Given the description of an element on the screen output the (x, y) to click on. 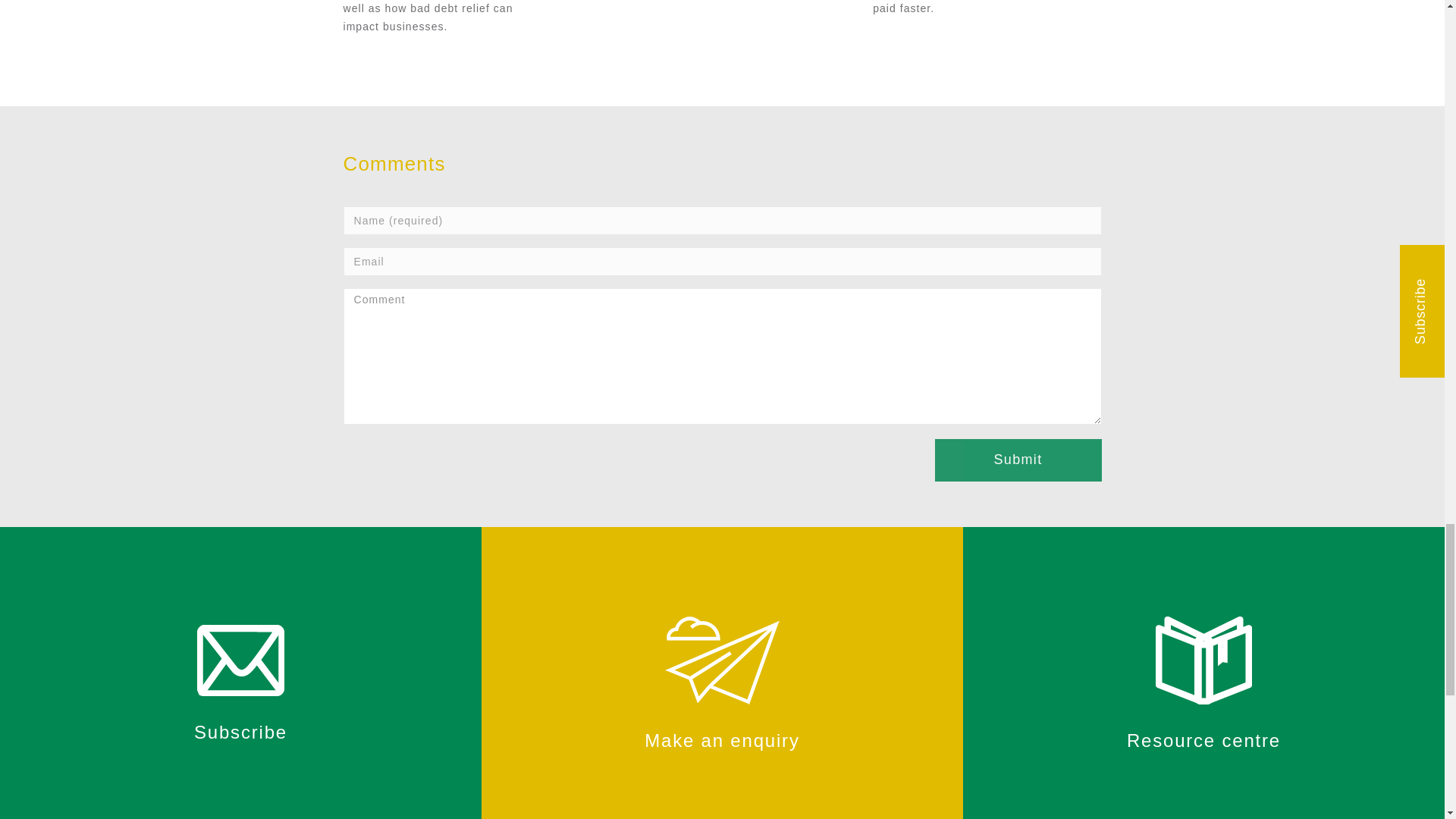
Make an enquiry (721, 682)
Subscribe (240, 683)
Submit (1017, 459)
